Given the description of an element on the screen output the (x, y) to click on. 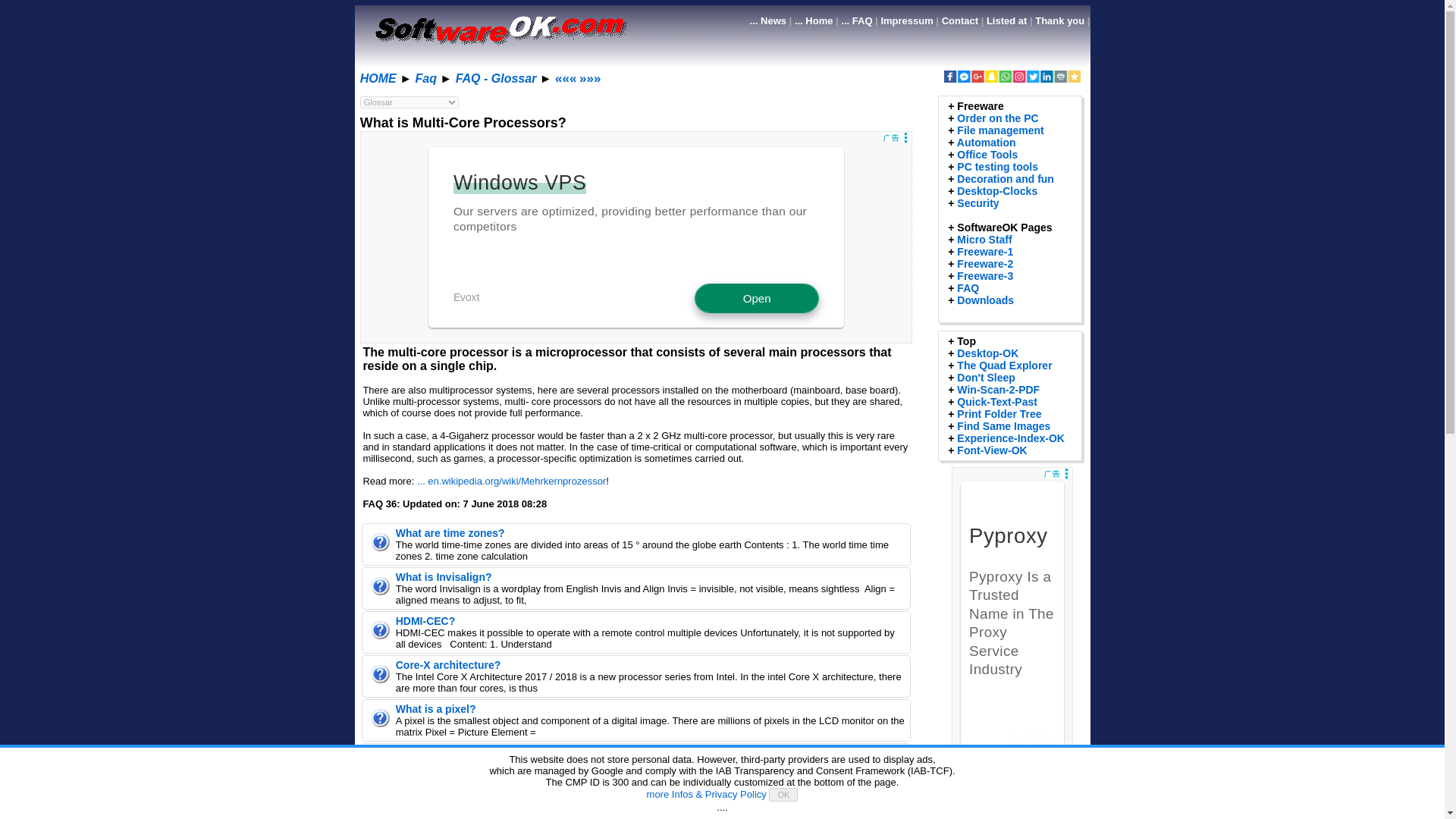
Office Tools (986, 154)
Contact (960, 20)
Automation (986, 142)
What is a pixel? (436, 708)
What is Invisalign? (444, 576)
Core-X architecture? (448, 664)
FAQ - Glossar (496, 78)
Order on the PC (997, 118)
Decoration and fun (1005, 178)
Impressum (906, 20)
